Given the description of an element on the screen output the (x, y) to click on. 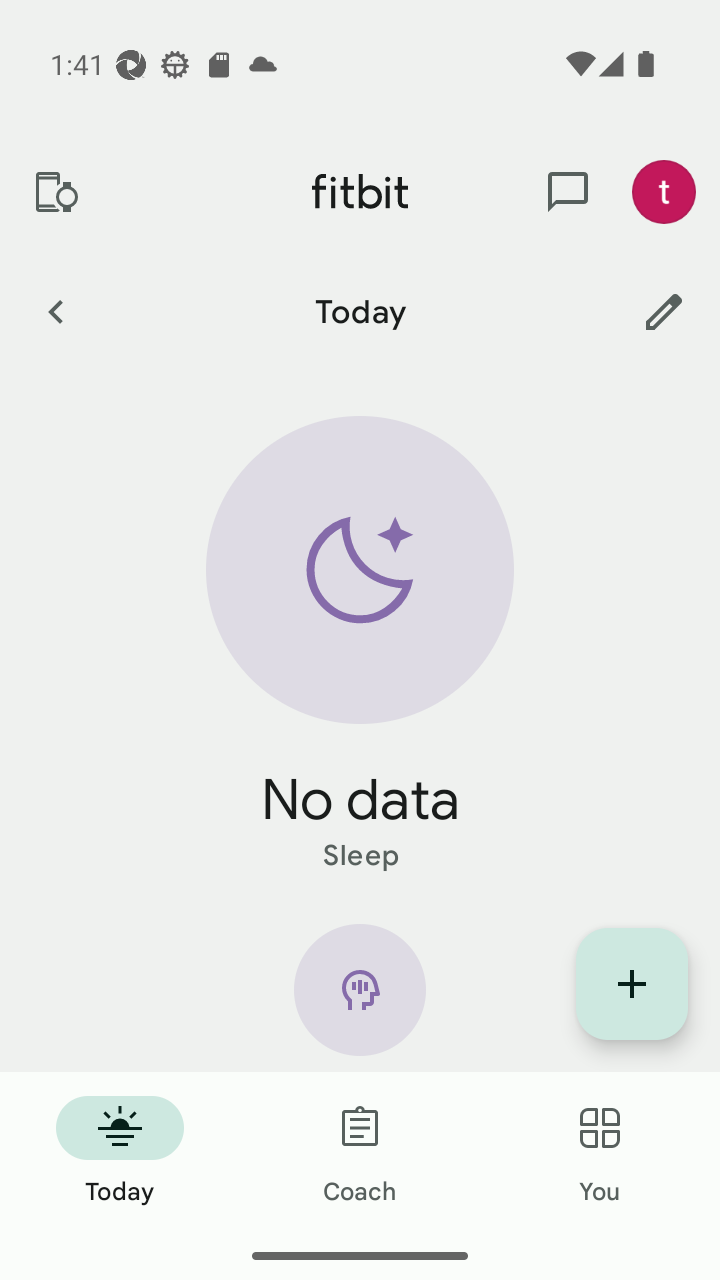
Devices and apps (55, 191)
messages and notifications (567, 191)
Previous Day (55, 311)
Customize (664, 311)
Sleep static hero arc No data Sleep (359, 645)
Mindfulness icon (360, 998)
Display list of quick log entries (632, 983)
Coach (359, 1151)
You (600, 1151)
